Given the description of an element on the screen output the (x, y) to click on. 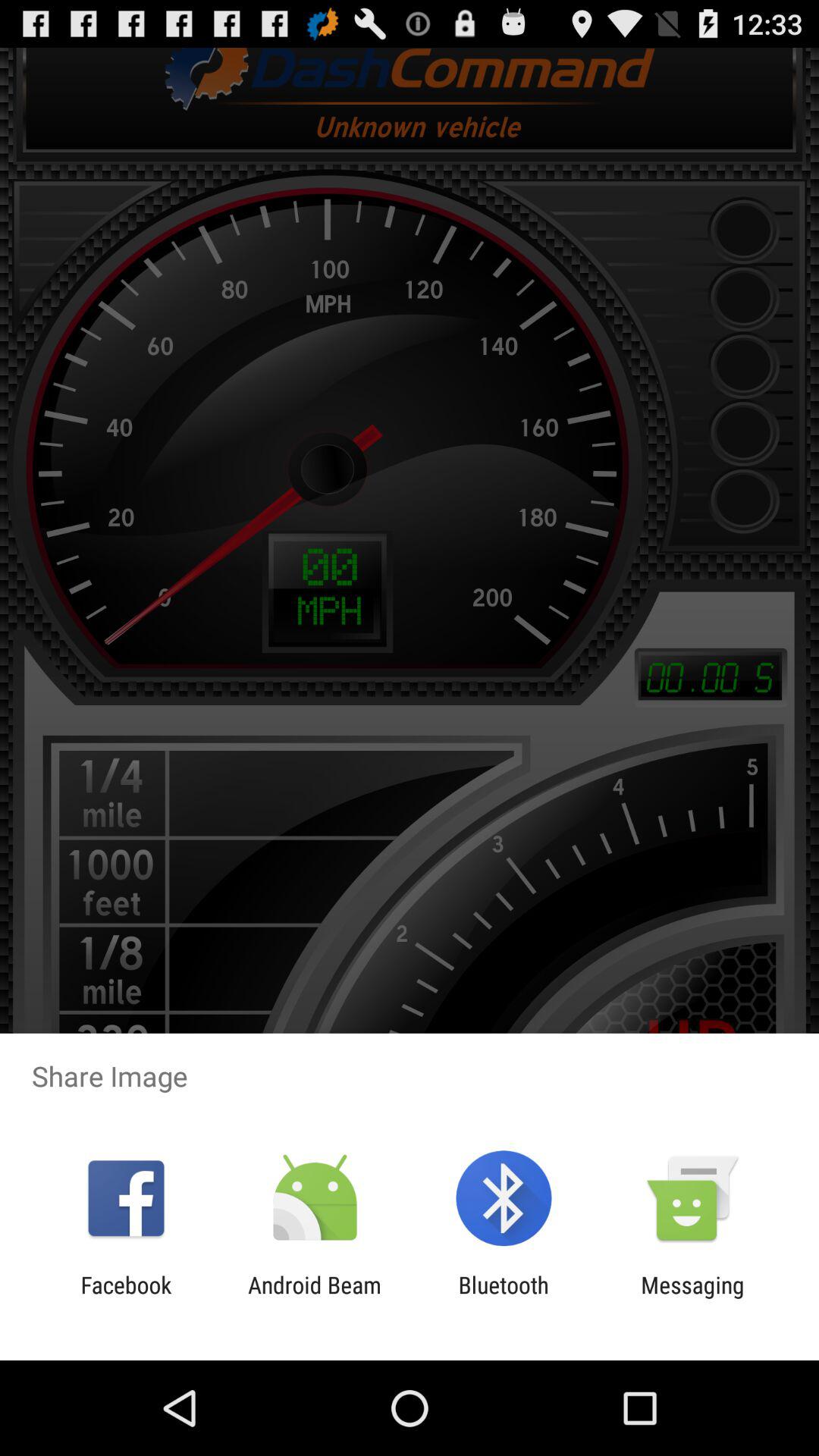
launch item to the left of the android beam (125, 1298)
